Given the description of an element on the screen output the (x, y) to click on. 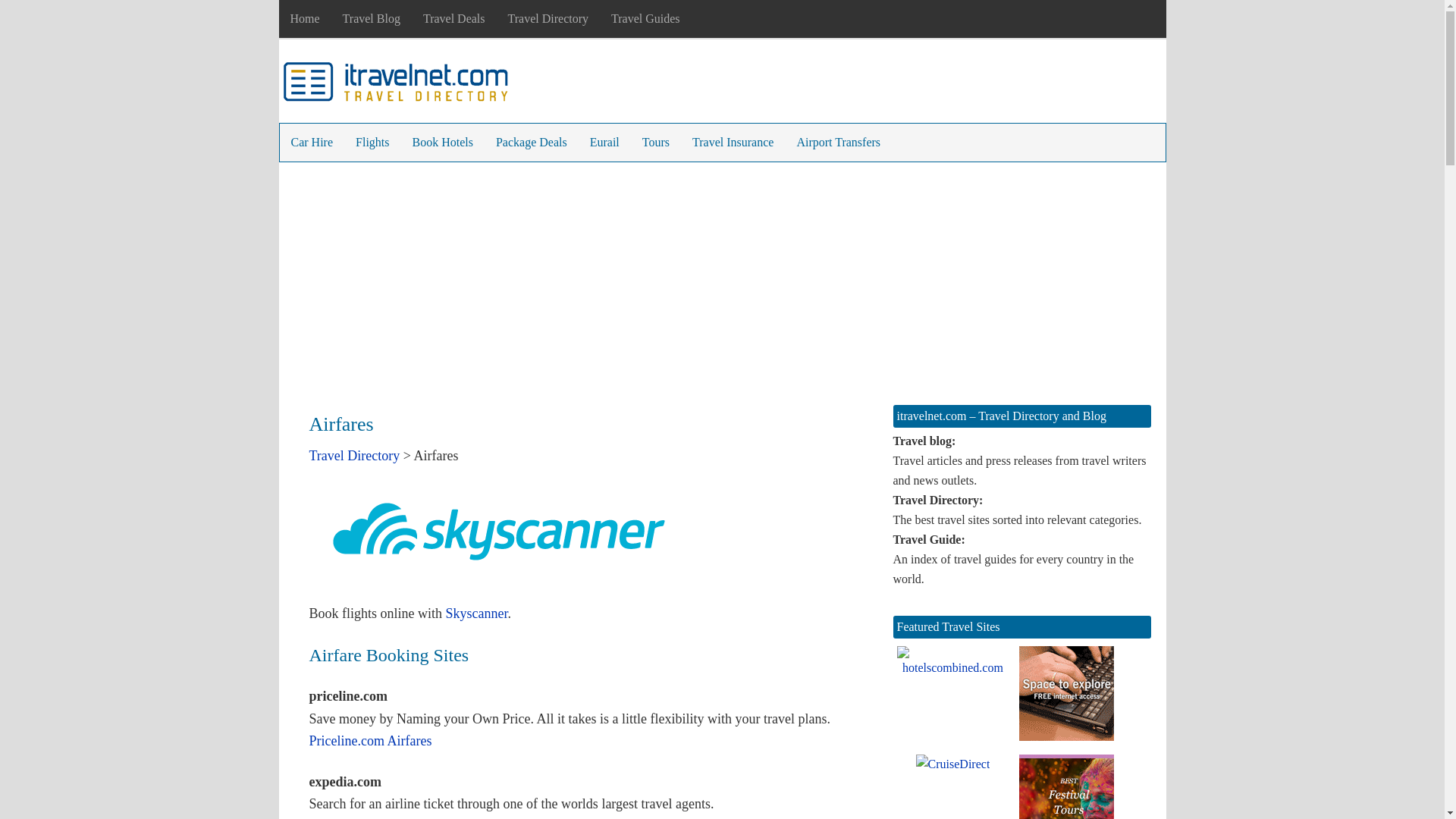
Travel Directory (354, 454)
Home (305, 18)
itravelnet.com (396, 84)
Travel Insurance (732, 142)
Travel Blog (371, 18)
Travel Directory (547, 18)
Priceline.com Airfares (370, 740)
Travel Deals (454, 18)
Airport Transfers (837, 142)
Skyscanner (476, 613)
Package Deals (531, 142)
Eurail (604, 142)
Travel Guides (645, 18)
Tours (655, 142)
